Given the description of an element on the screen output the (x, y) to click on. 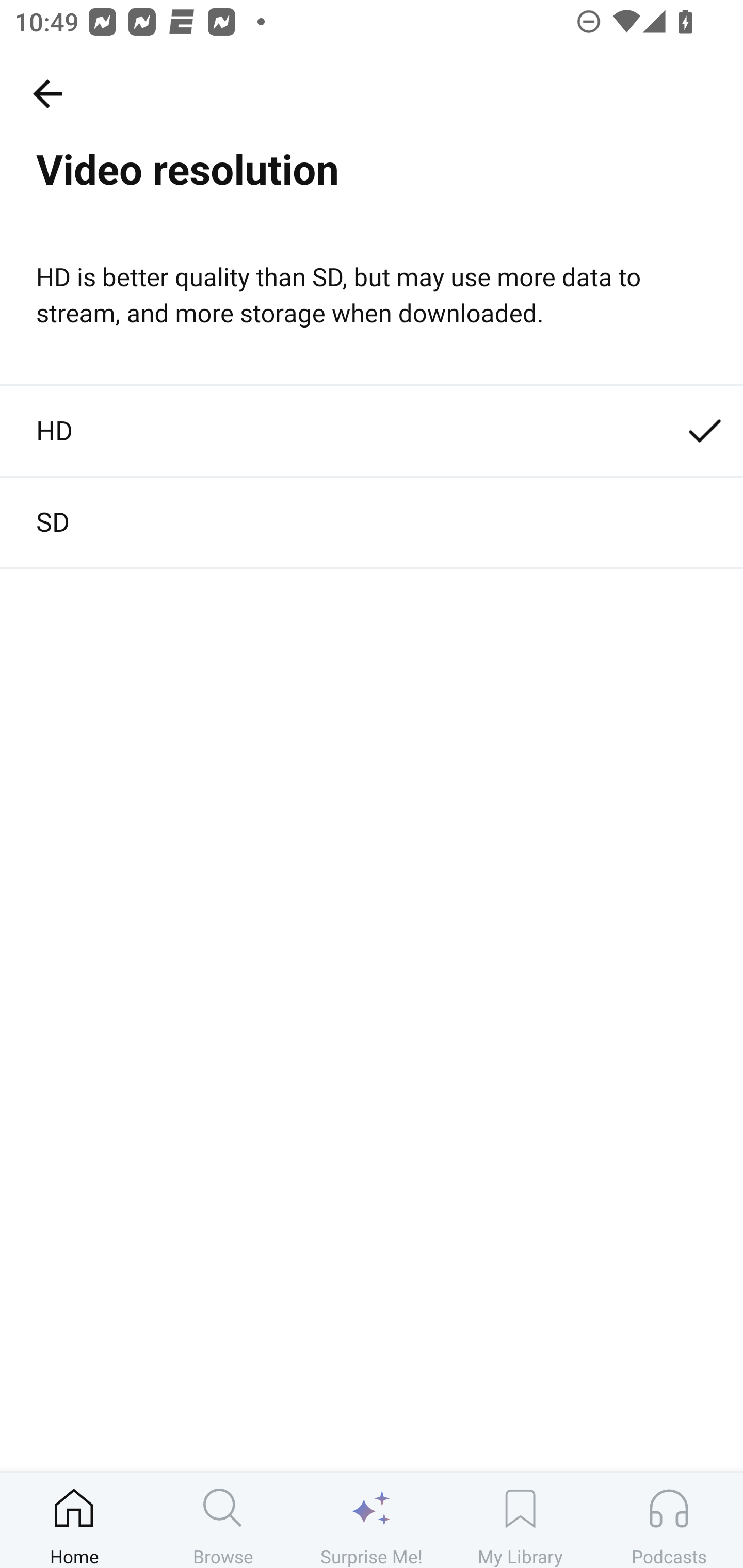
Settings, back (47, 92)
HD (371, 430)
SD (371, 522)
Home (74, 1520)
Browse (222, 1520)
Surprise Me! (371, 1520)
My Library (519, 1520)
Podcasts (668, 1520)
